Given the description of an element on the screen output the (x, y) to click on. 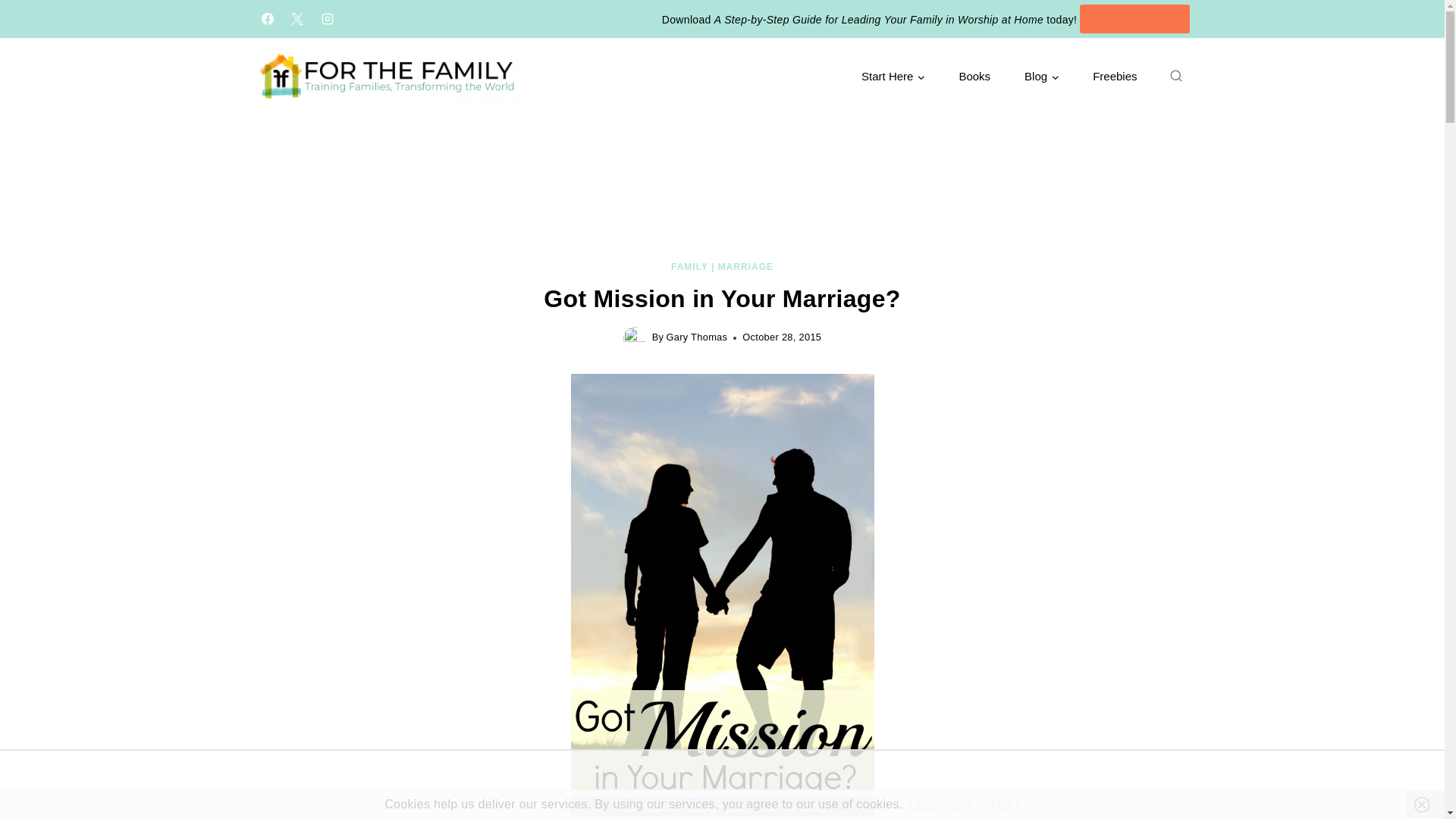
SIGN ME UP! (1134, 19)
Freebies (1114, 76)
Start Here (893, 76)
Books (974, 76)
Blog (1041, 76)
